Given the description of an element on the screen output the (x, y) to click on. 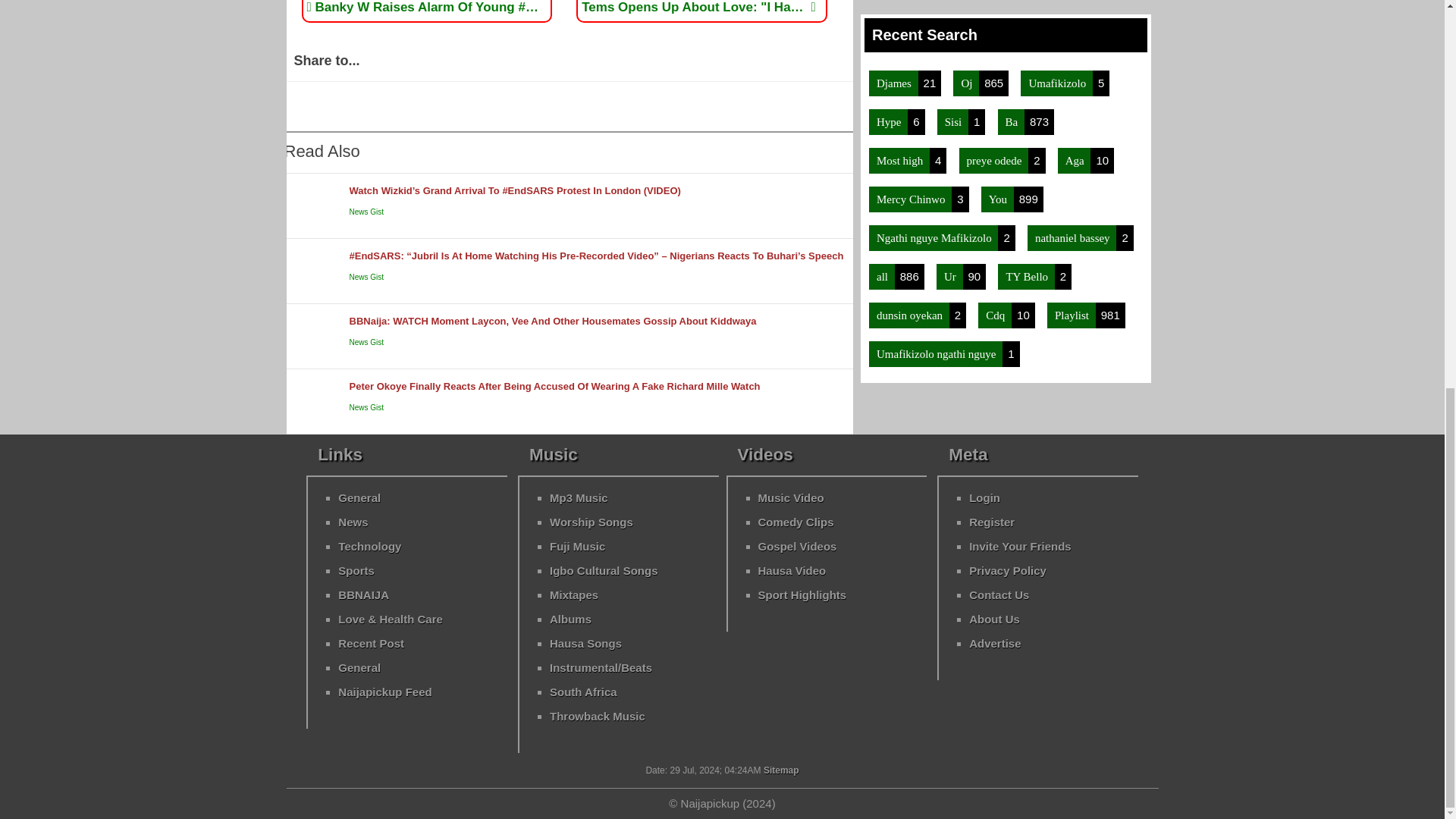
Tems Opens Up About Love: "I Haven't Been in Love" (697, 7)
Mp3 Music (579, 497)
Tems Opens Up About Love: "I Haven (697, 7)
